Given the description of an element on the screen output the (x, y) to click on. 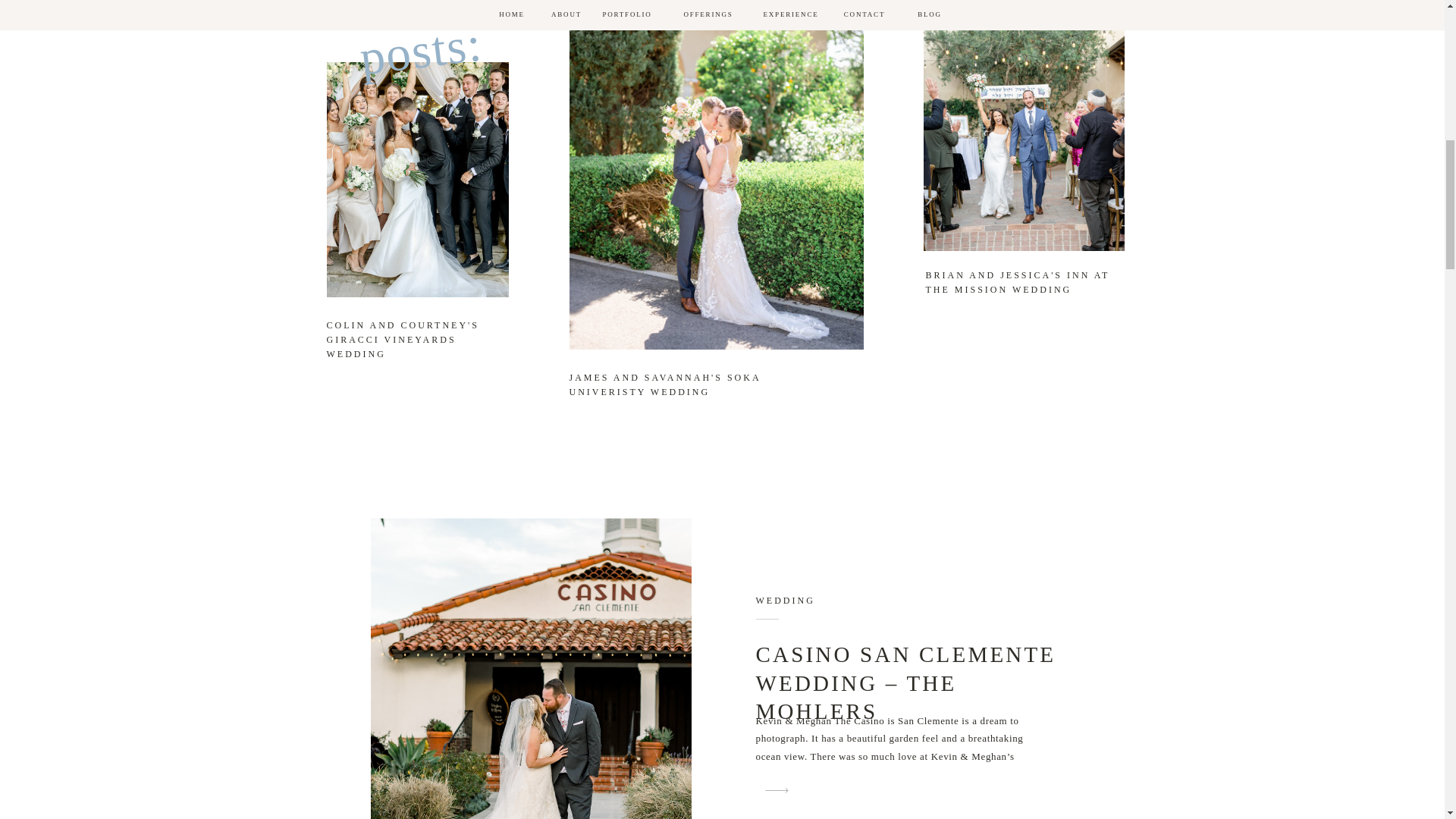
arrow (775, 790)
arrow (1104, 348)
